Given the description of an element on the screen output the (x, y) to click on. 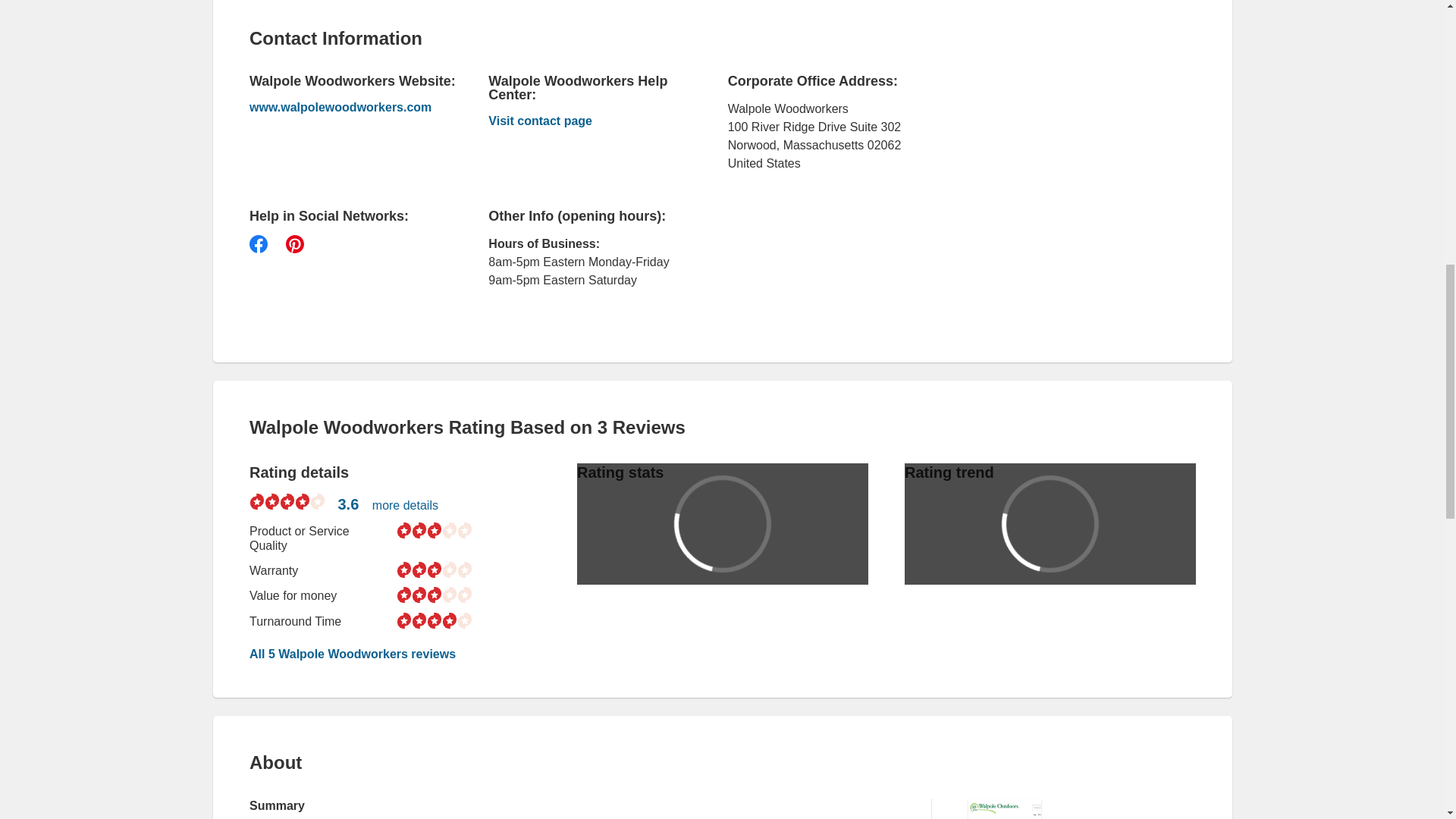
Facebook link (257, 244)
Visit contact page (584, 122)
Pinterest (293, 244)
Facebook (257, 244)
All 5 Walpole Woodworkers reviews (351, 653)
Pinterest link (293, 244)
Walpole Woodworkers (584, 122)
Walpole Woodworkers (345, 107)
www.walpolewoodworkers.com (345, 107)
